Given the description of an element on the screen output the (x, y) to click on. 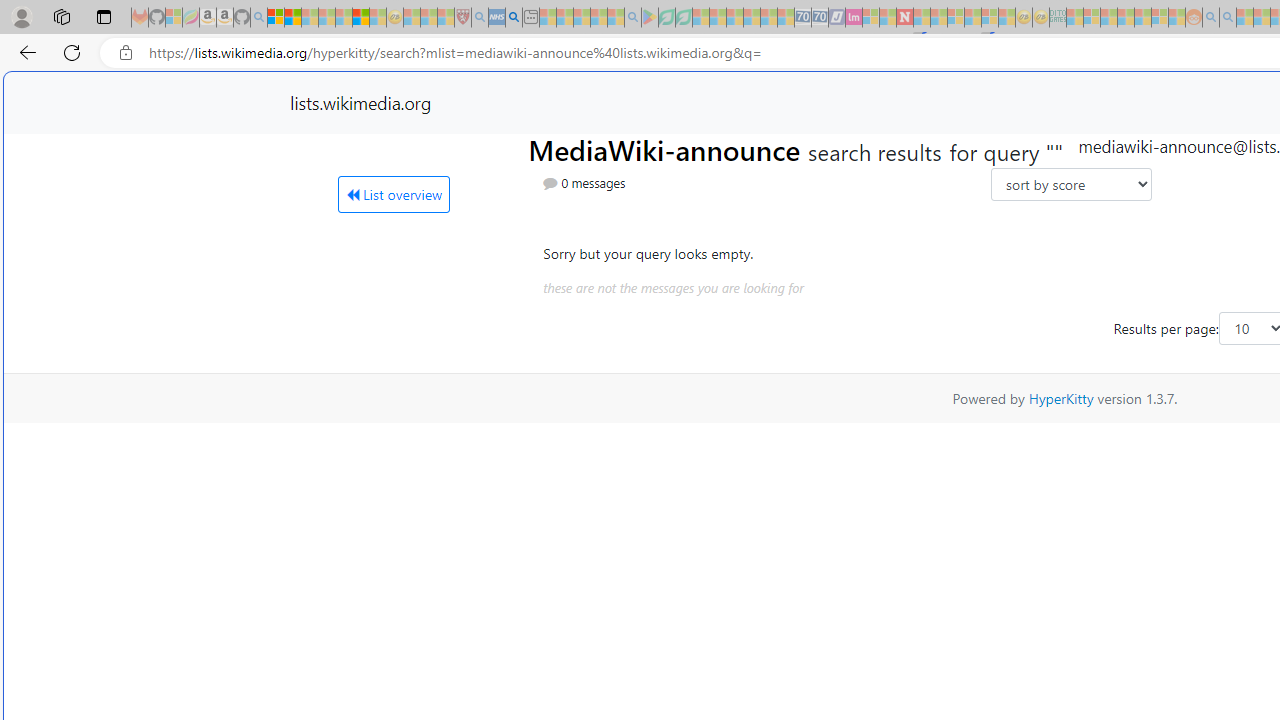
utah sues federal government - Search (513, 17)
MediaWiki-announce  (667, 148)
Jobs - lastminute.com Investor Portal - Sleeping (853, 17)
Pets - MSN - Sleeping (598, 17)
